Given the description of an element on the screen output the (x, y) to click on. 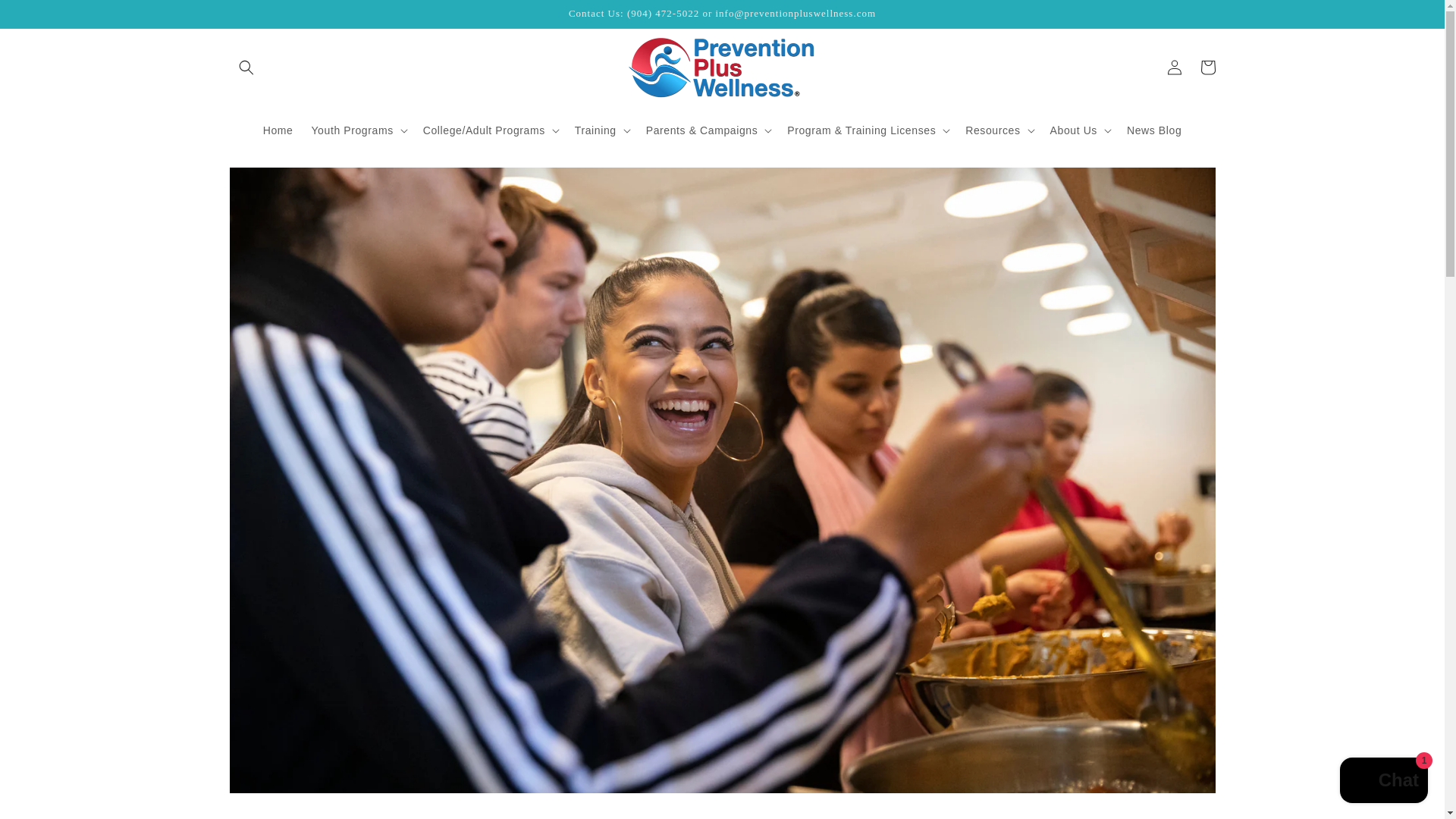
Skip to content (45, 17)
Shopify online store chat (1383, 781)
